Given the description of an element on the screen output the (x, y) to click on. 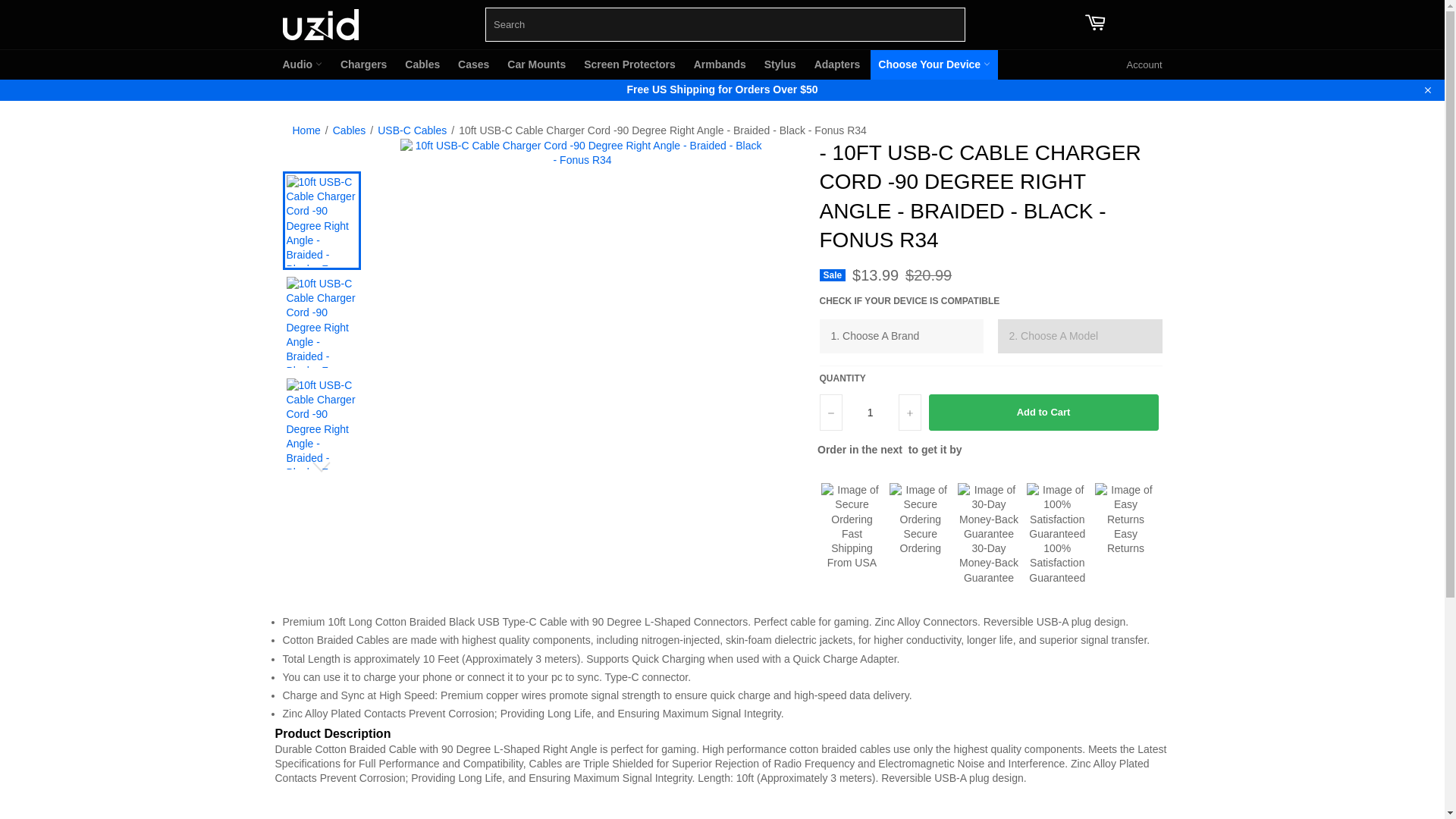
Cases (472, 64)
Stylus (780, 64)
Adapters (836, 64)
Car Mounts (536, 64)
1 (869, 411)
Audio (302, 64)
Search (949, 21)
Chargers (363, 64)
Cables (421, 64)
Armbands (719, 64)
